Given the description of an element on the screen output the (x, y) to click on. 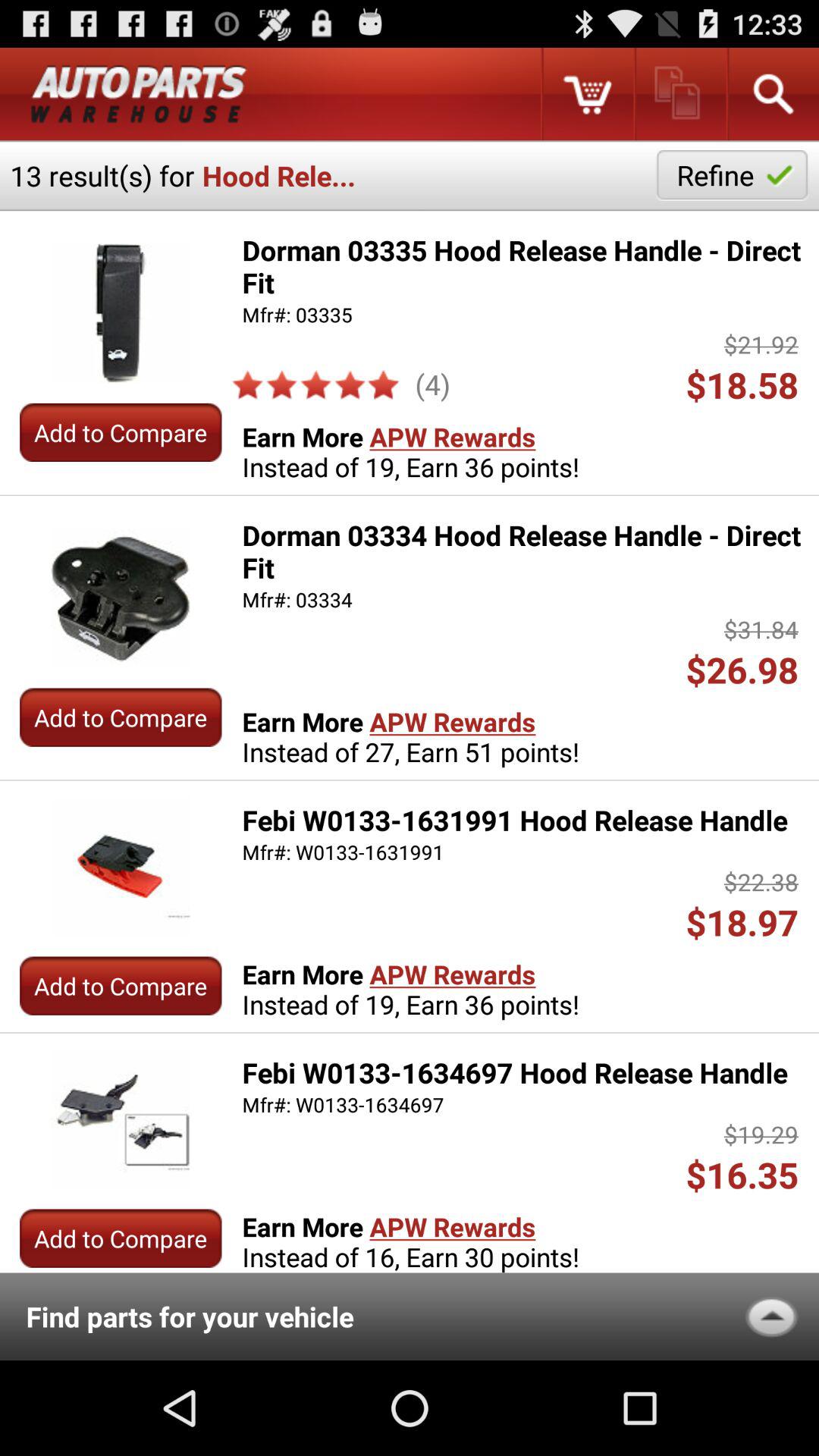
go to cart (586, 93)
